Given the description of an element on the screen output the (x, y) to click on. 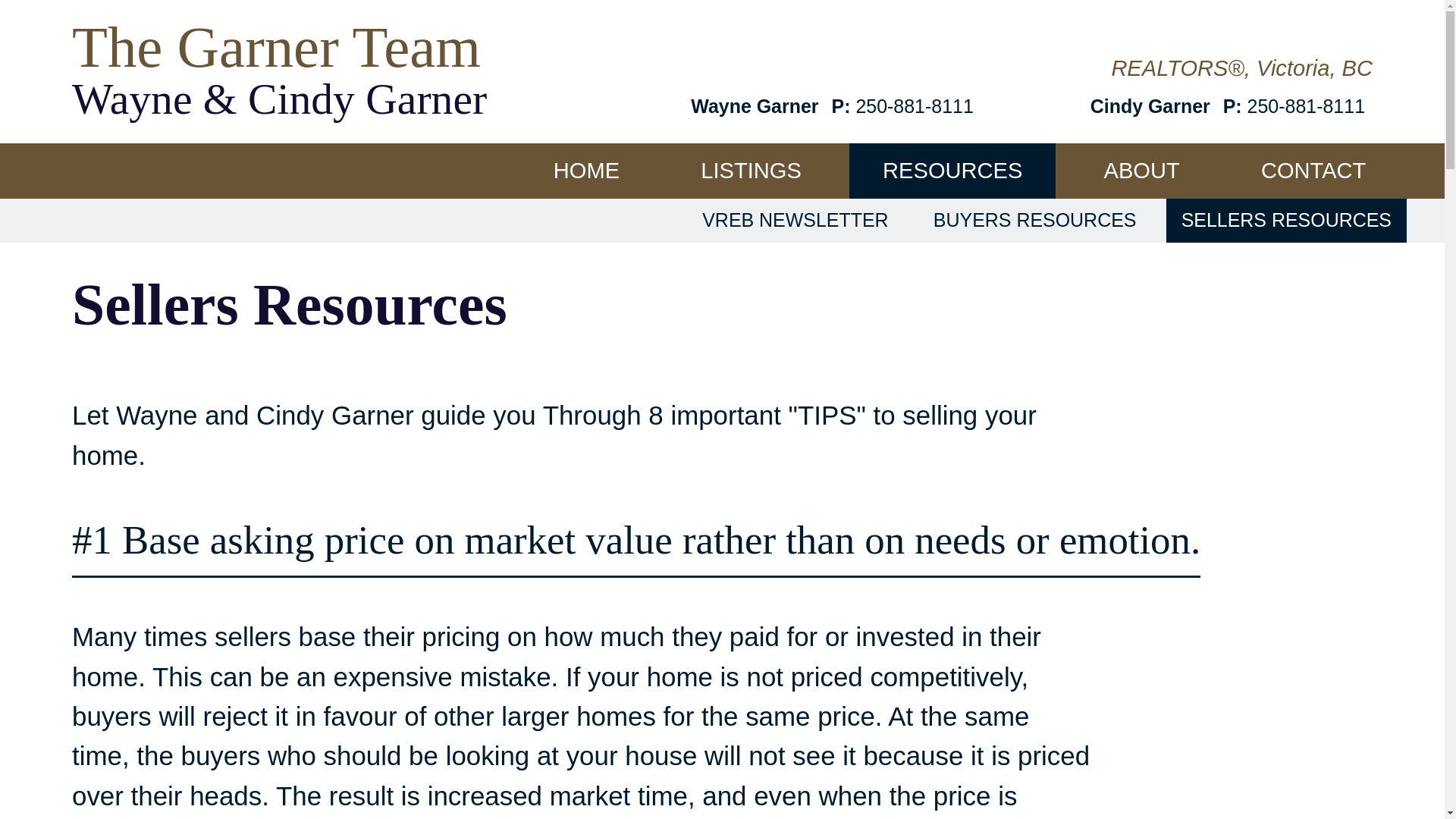
HOME (585, 171)
BUYERS RESOURCES (1034, 220)
CONTACT (1313, 171)
VREB NEWSLETTER (794, 220)
250-881-8111 (914, 106)
ABOUT (1141, 171)
250-881-8111 (1306, 106)
RESOURCES (951, 171)
LISTINGS (751, 171)
SELLERS RESOURCES (1286, 220)
